Given the description of an element on the screen output the (x, y) to click on. 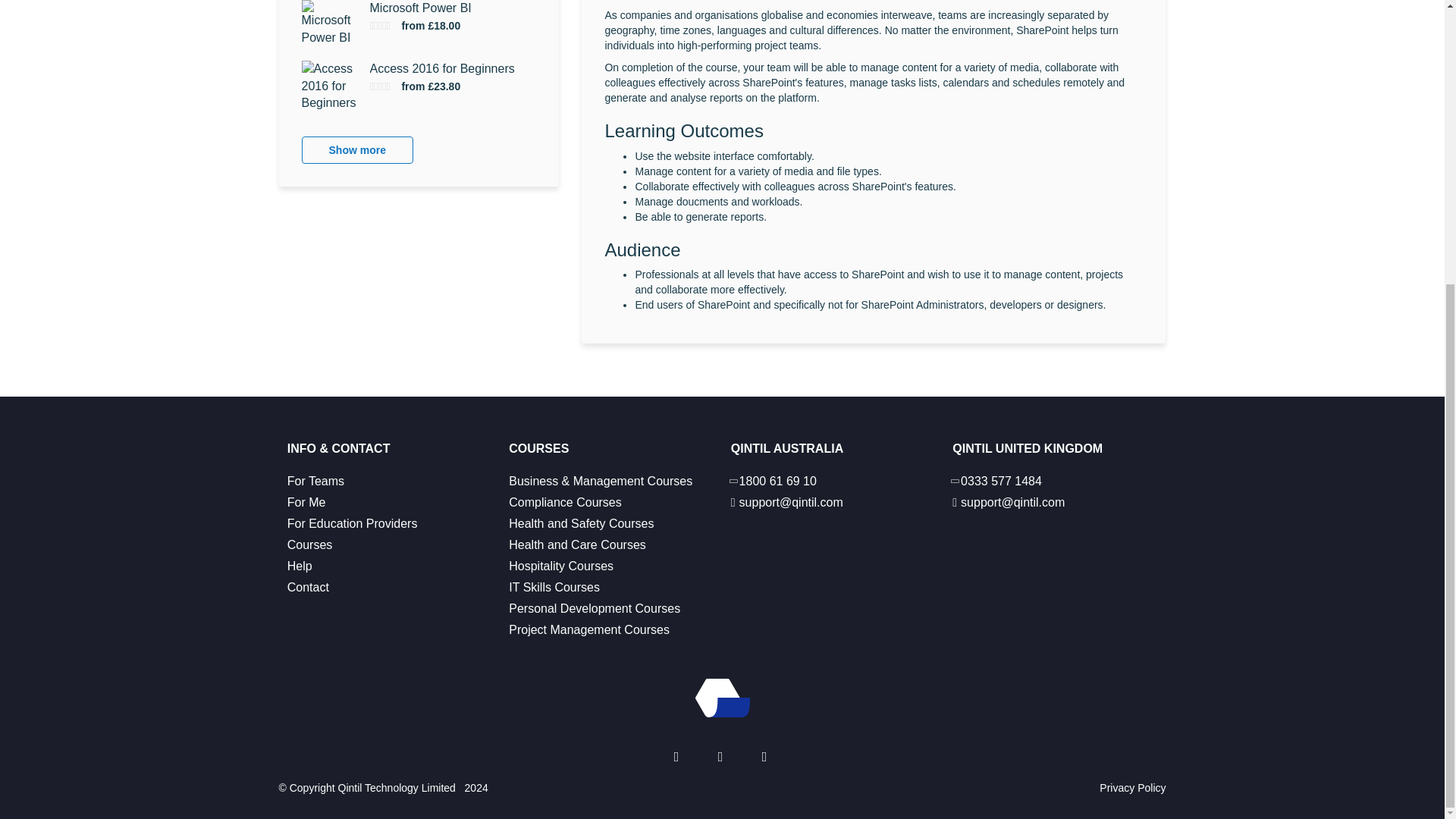
Logo (721, 697)
